Given the description of an element on the screen output the (x, y) to click on. 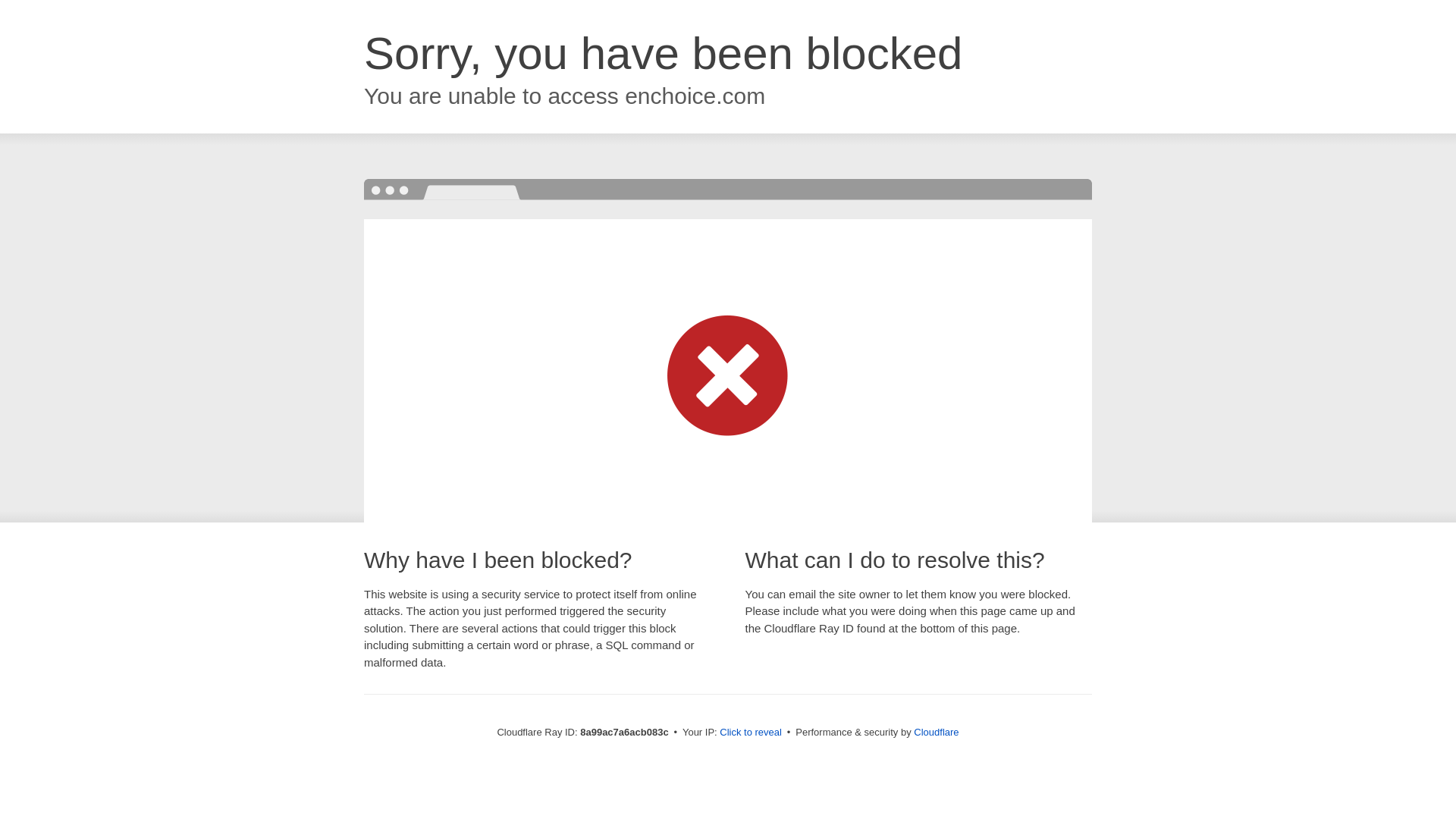
Click to reveal (750, 732)
Cloudflare (936, 731)
